Given the description of an element on the screen output the (x, y) to click on. 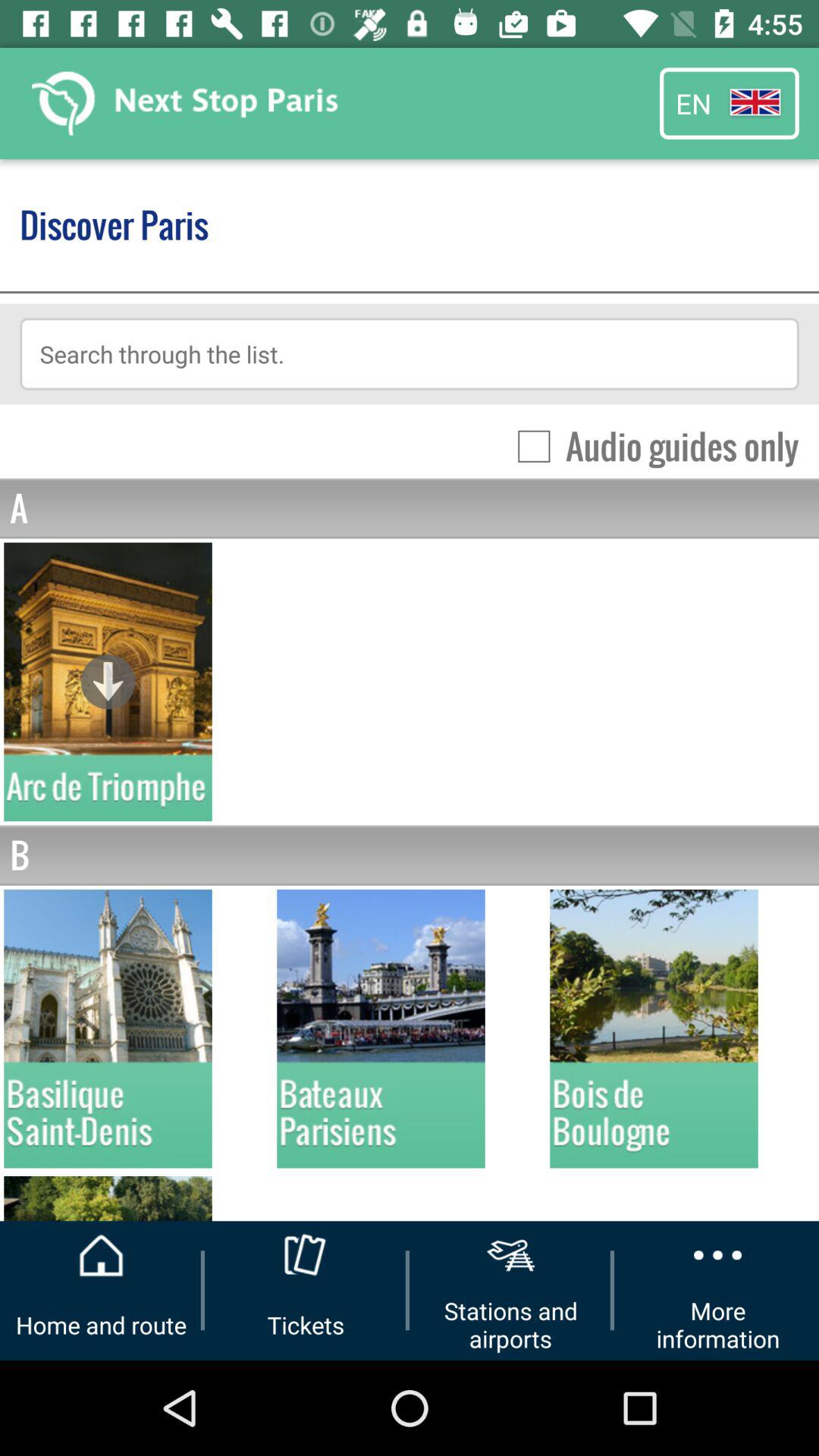
select icon above the audio guides only (409, 353)
